Given the description of an element on the screen output the (x, y) to click on. 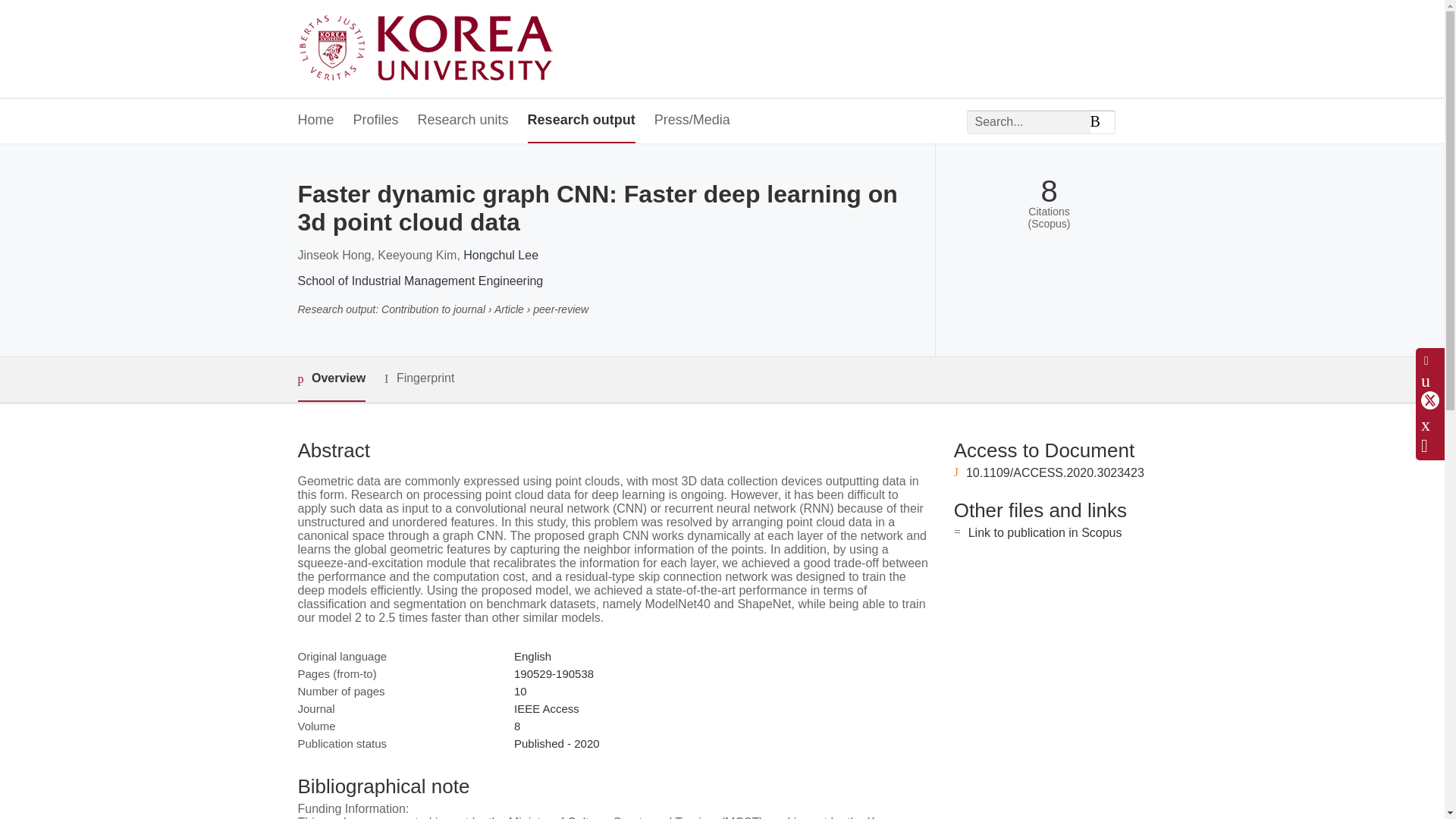
Hongchul Lee (500, 254)
Research units (462, 120)
Korea University Home (429, 49)
Research output (580, 120)
Fingerprint (419, 378)
Profiles (375, 120)
Overview (331, 379)
School of Industrial Management Engineering (420, 280)
Link to publication in Scopus (1045, 532)
IEEE Access (546, 707)
